Given the description of an element on the screen output the (x, y) to click on. 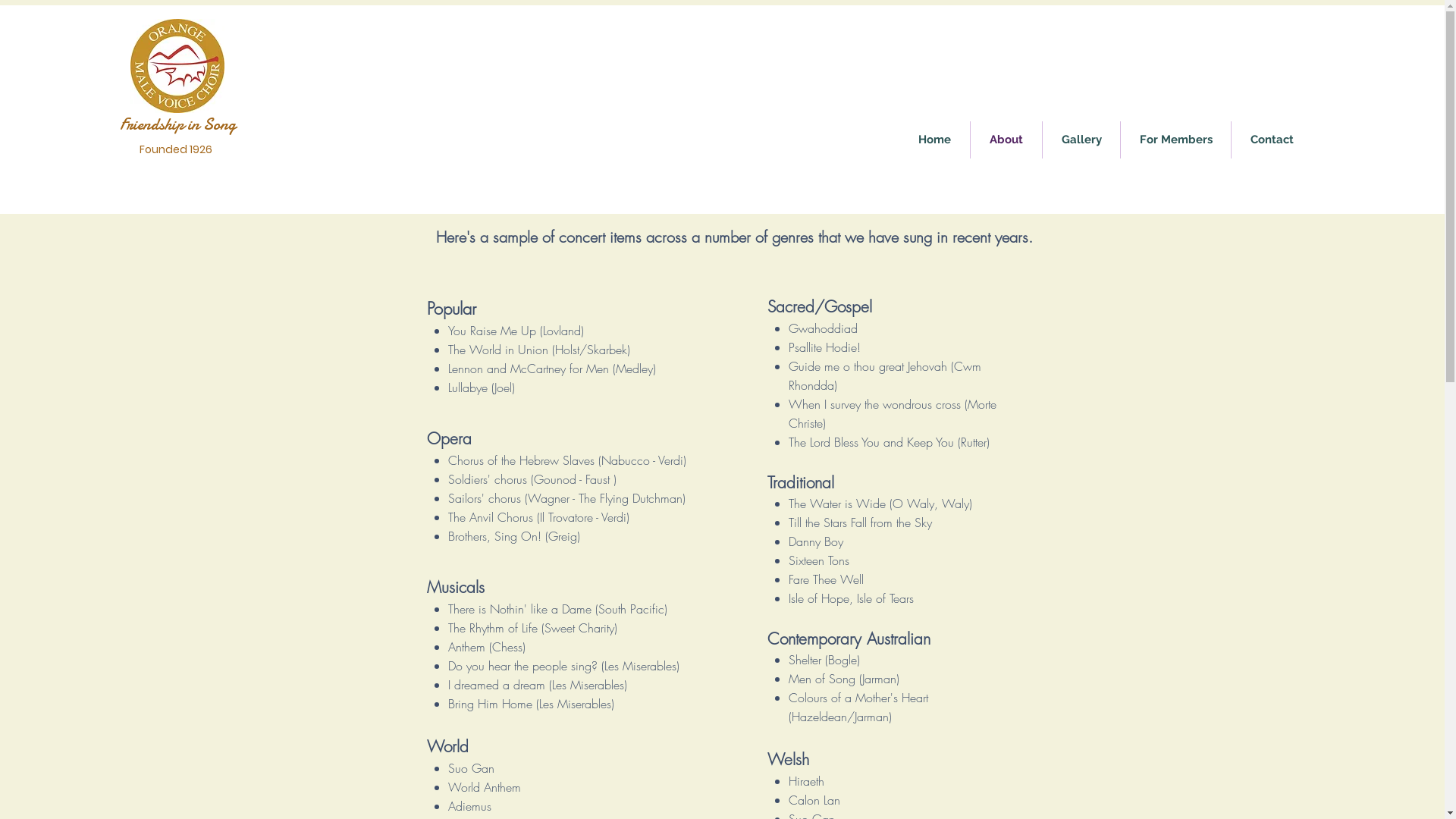
About Element type: text (1005, 139)
Contact Element type: text (1271, 139)
Friendship in Song Element type: text (177, 123)
Home Element type: text (934, 139)
For Members Element type: text (1175, 139)
Gallery Element type: text (1081, 139)
